Given the description of an element on the screen output the (x, y) to click on. 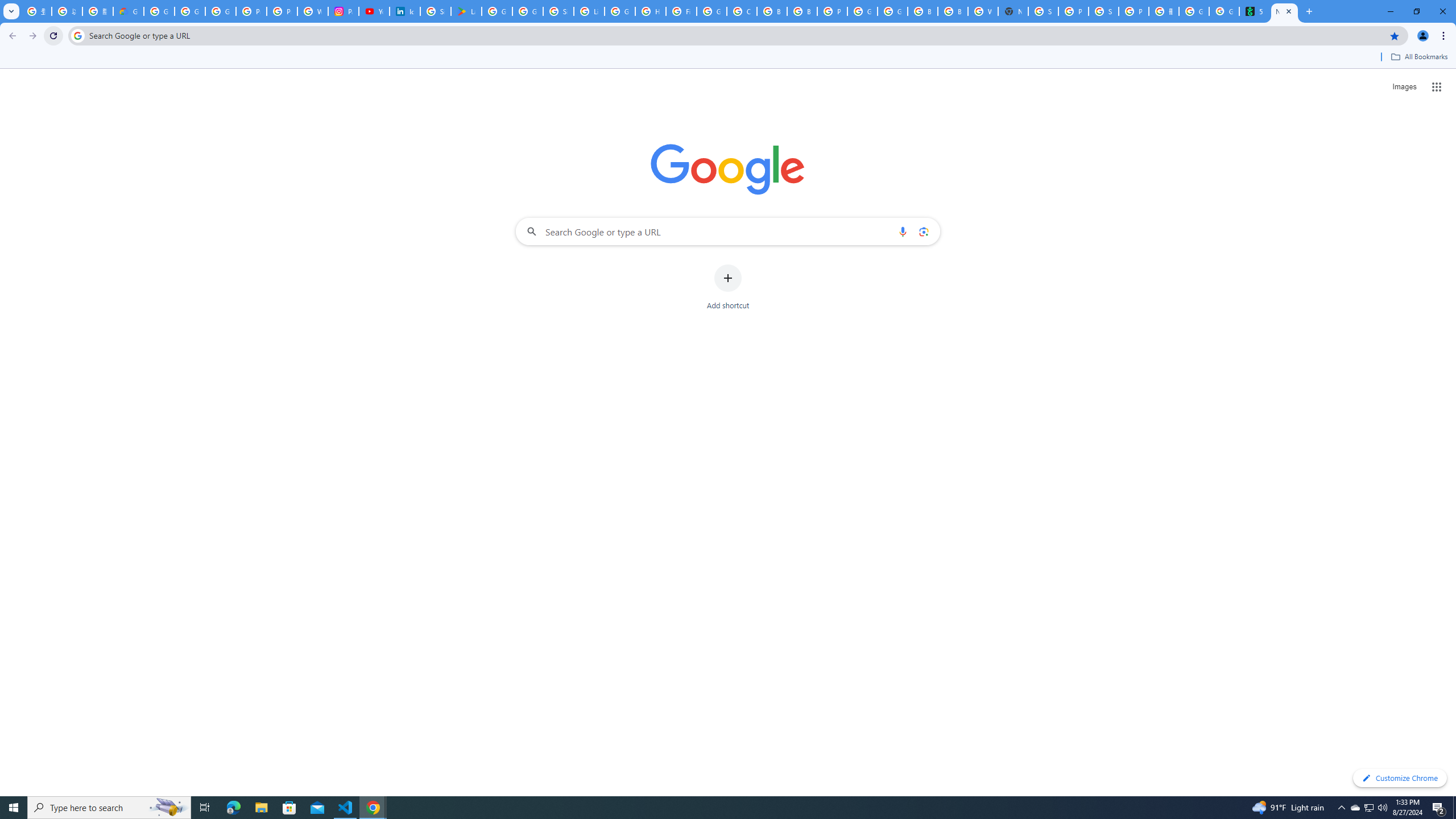
Privacy Help Center - Policies Help (282, 11)
Add shortcut (727, 287)
Sign in - Google Accounts (434, 11)
Privacy Help Center - Policies Help (251, 11)
How do I create a new Google Account? - Google Account Help (650, 11)
